Given the description of an element on the screen output the (x, y) to click on. 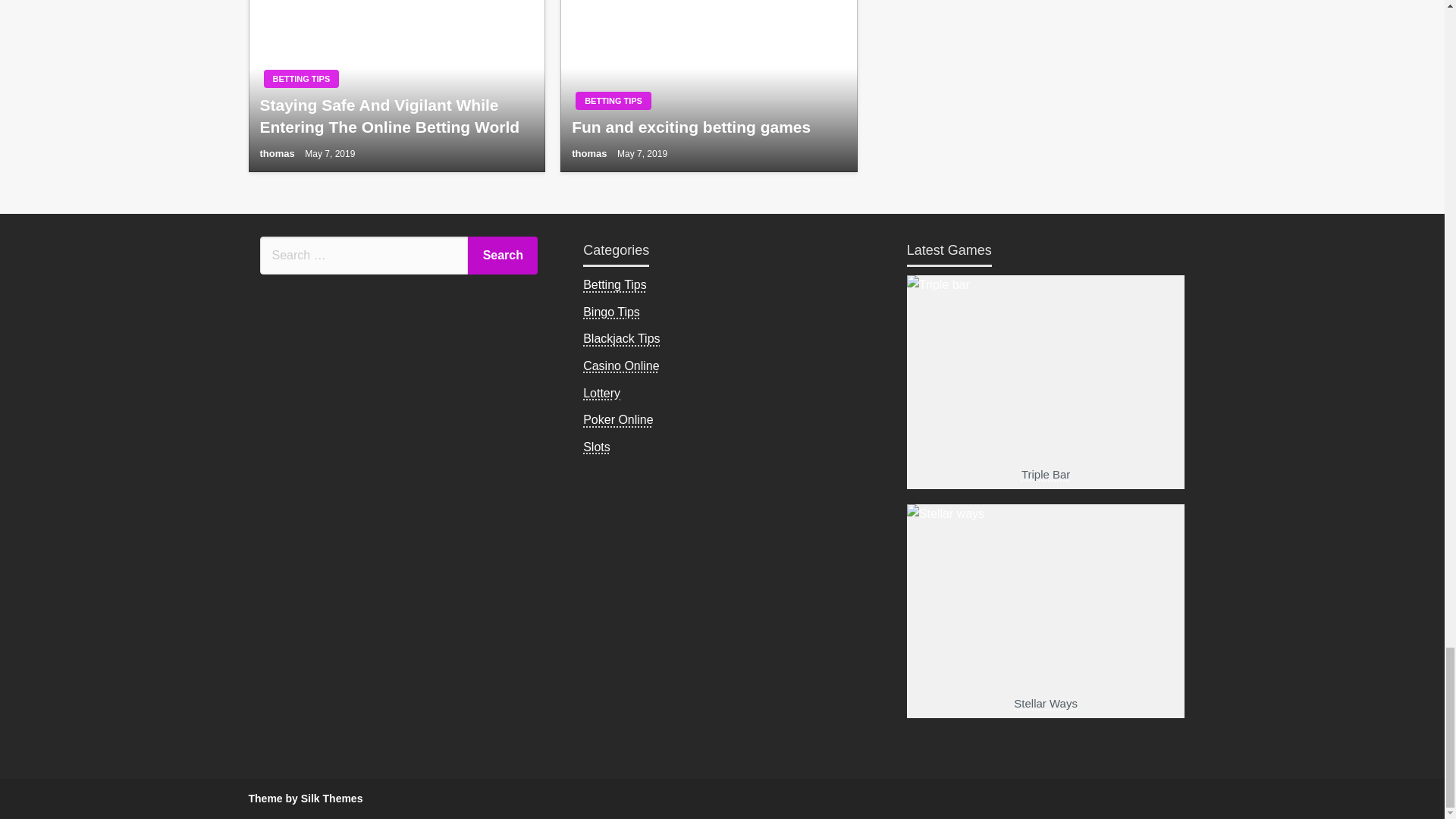
Triple bar (1046, 424)
Search (502, 255)
Search (502, 255)
